Given the description of an element on the screen output the (x, y) to click on. 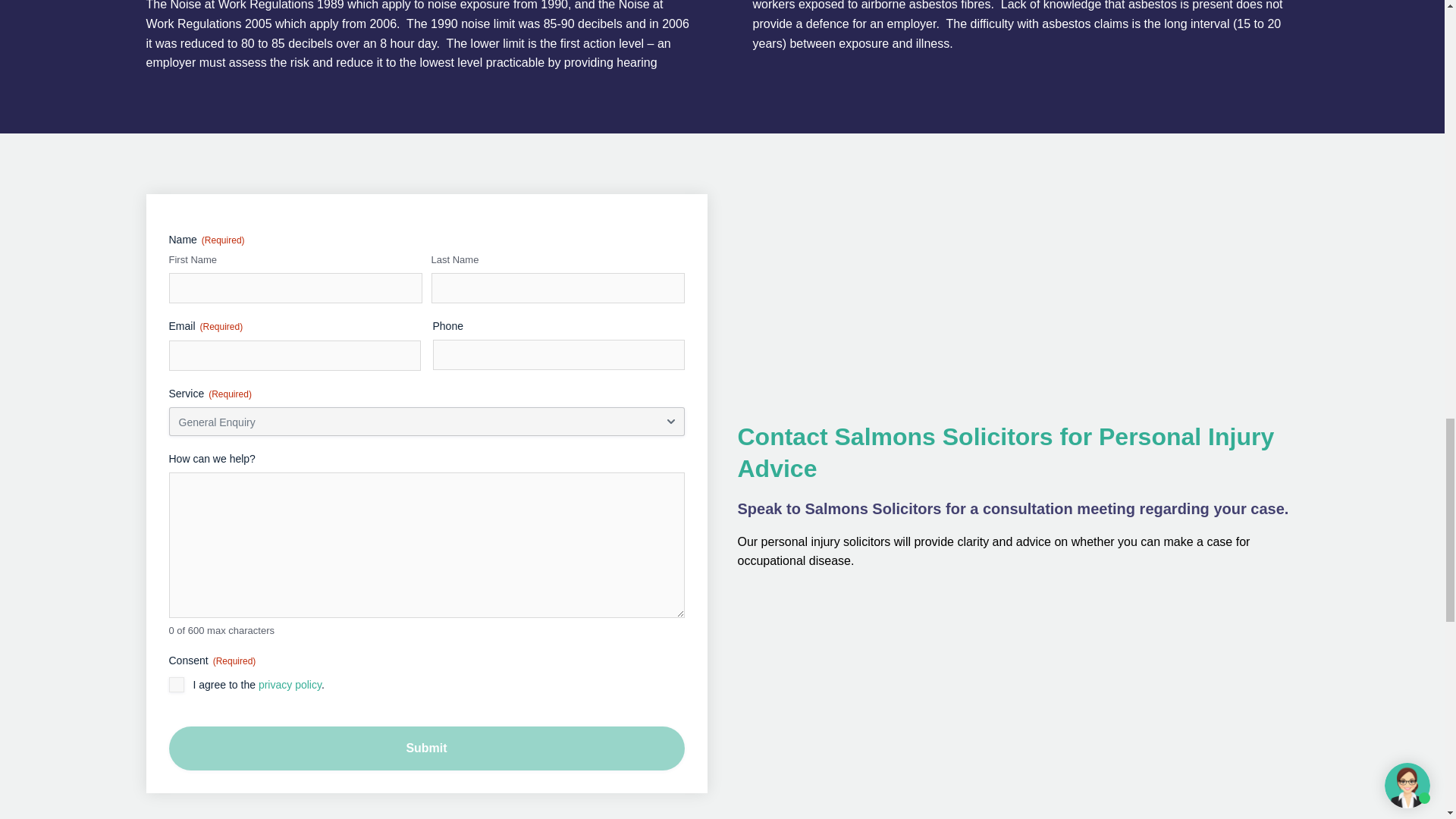
1 (175, 684)
Submit (426, 748)
